Given the description of an element on the screen output the (x, y) to click on. 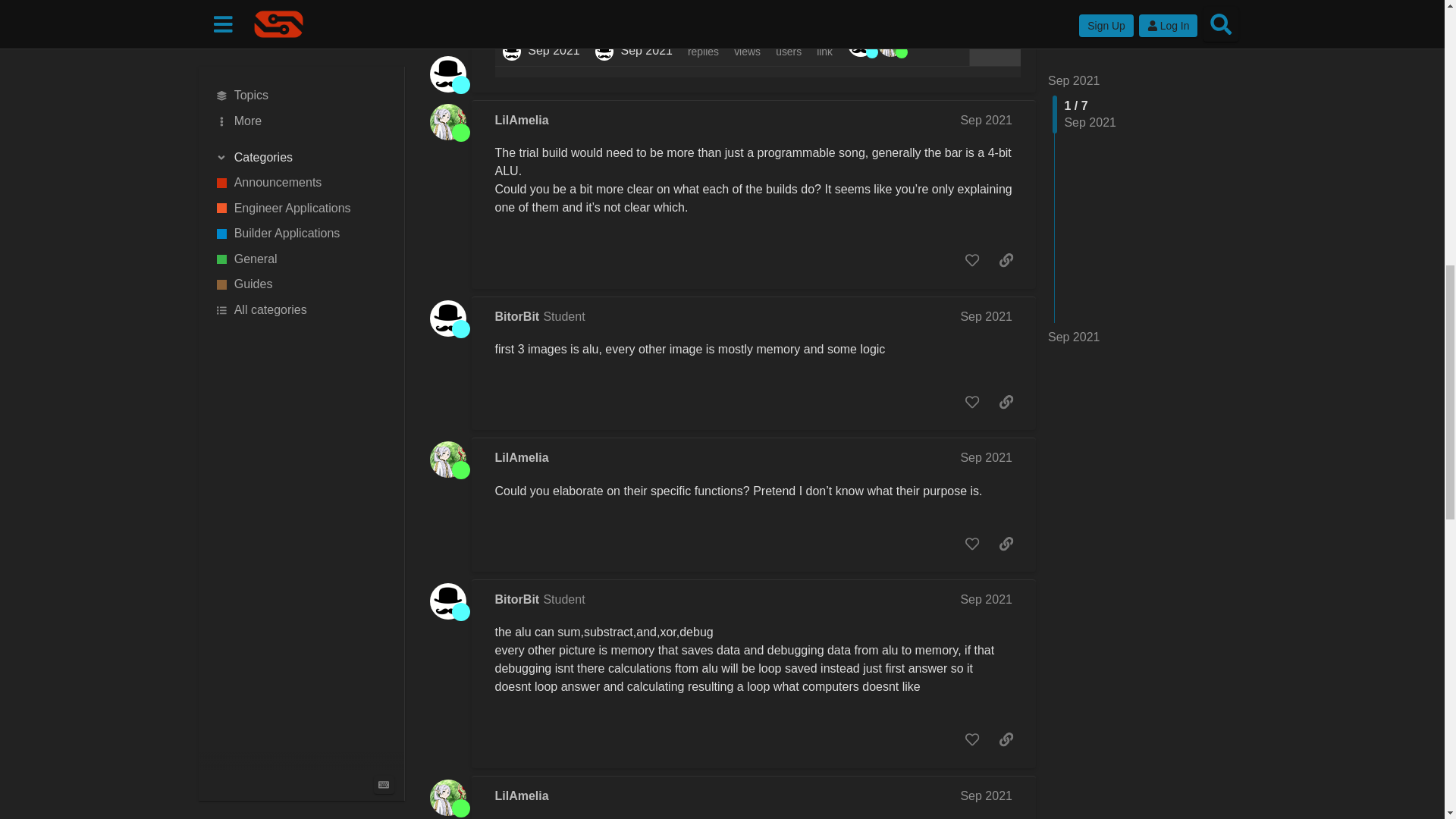
last reply (633, 32)
4 (862, 43)
LilAmelia (521, 120)
3 (892, 43)
